Given the description of an element on the screen output the (x, y) to click on. 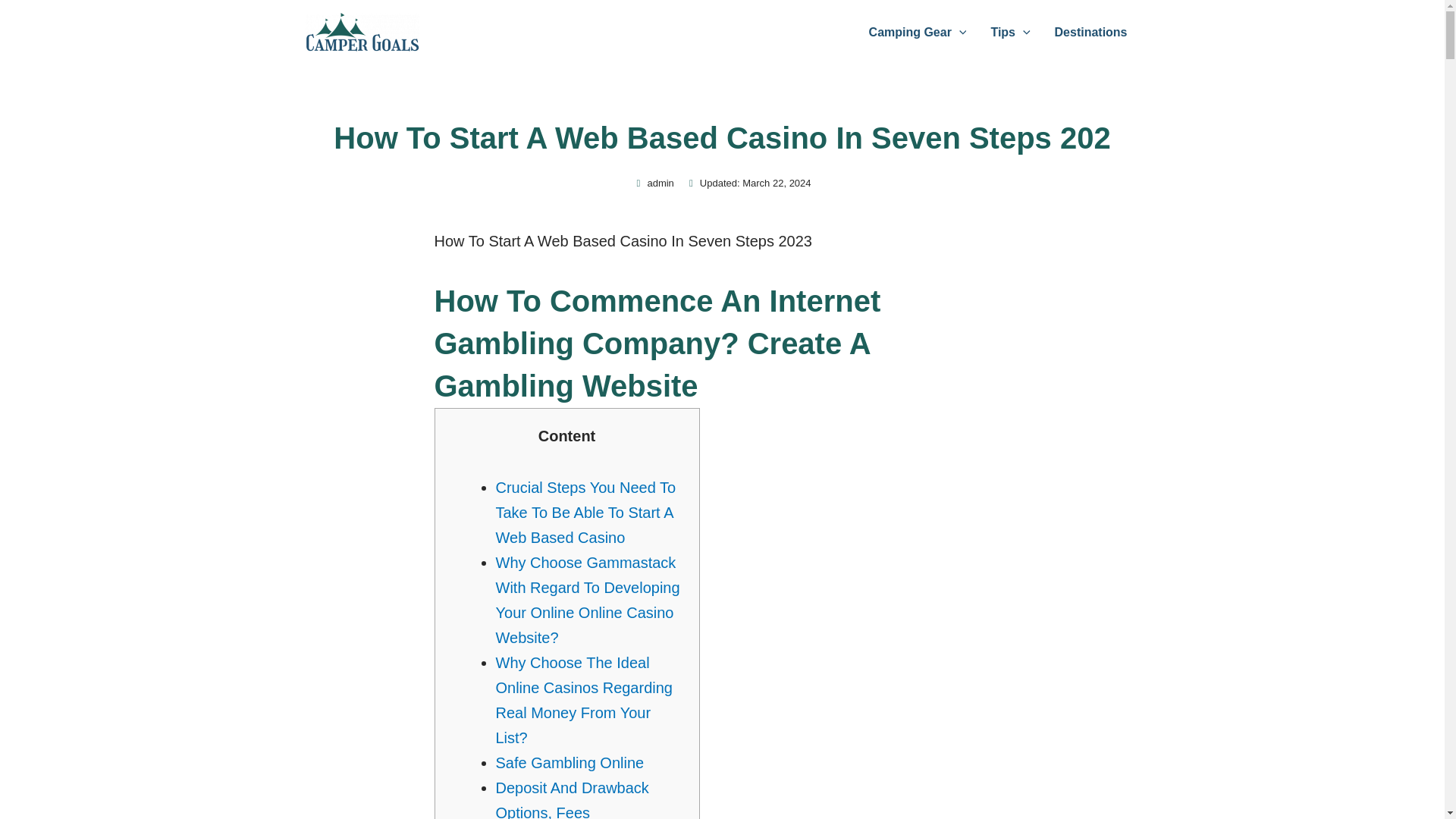
Destinations (1091, 31)
Tips (1010, 31)
Deposit And Drawback Options, Fees (572, 799)
Camping Gear (917, 31)
Safe Gambling Online (570, 762)
